Given the description of an element on the screen output the (x, y) to click on. 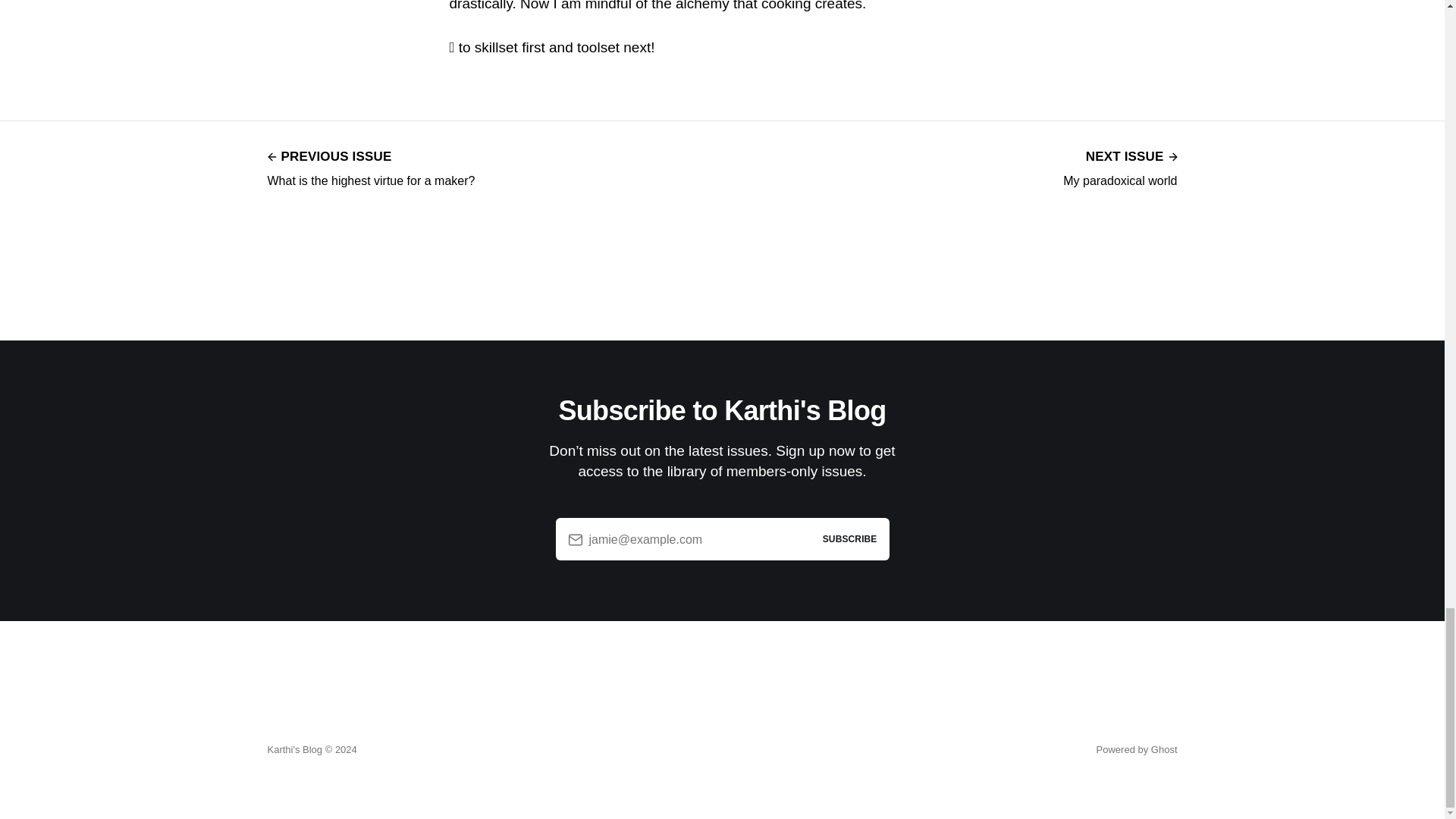
Powered by Ghost (1119, 167)
